Given the description of an element on the screen output the (x, y) to click on. 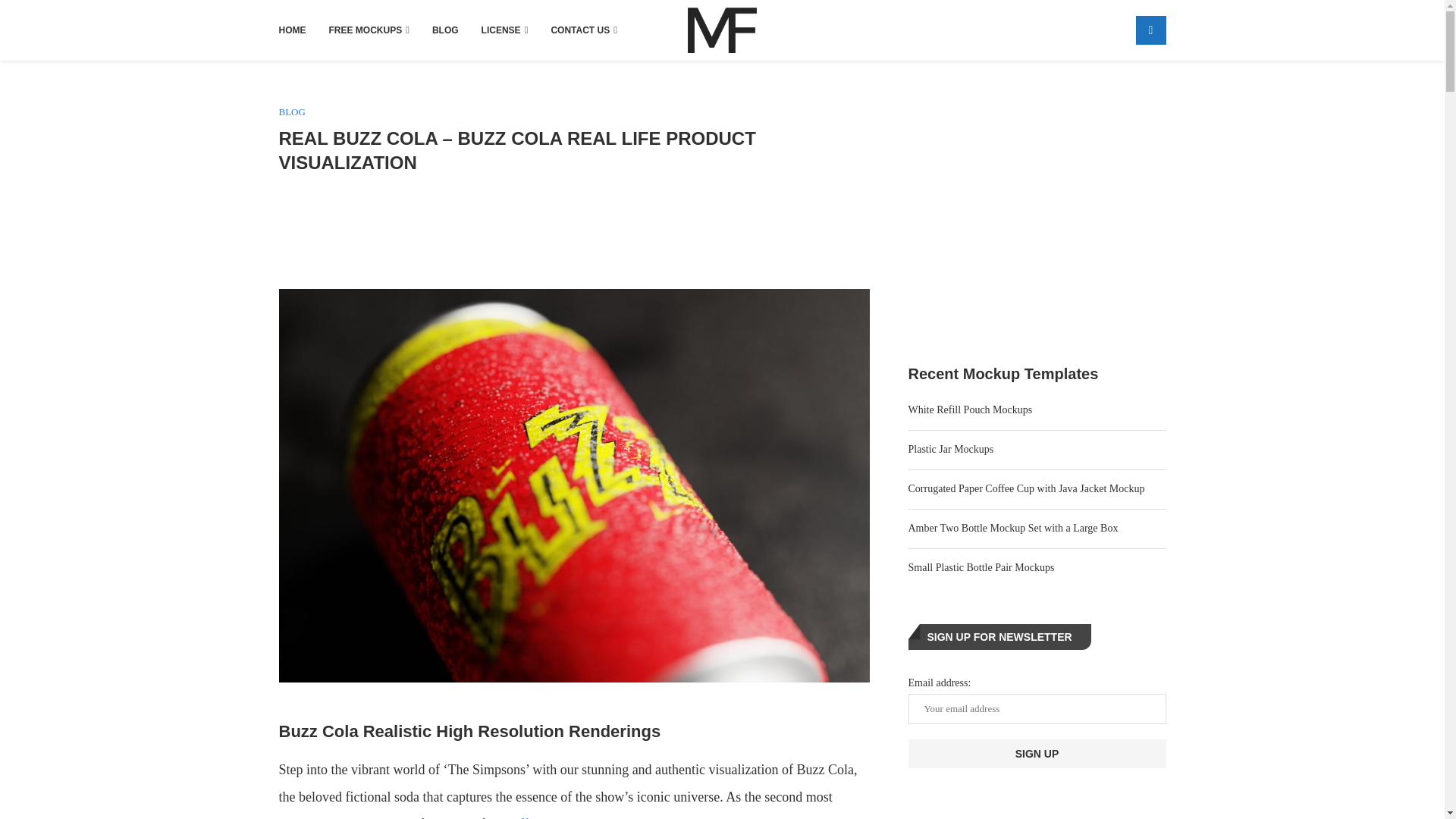
CONTACT US (583, 30)
LICENSE (504, 30)
Advertisement (574, 228)
Sign up (1037, 753)
FREE MOCKUPS (369, 30)
